Given the description of an element on the screen output the (x, y) to click on. 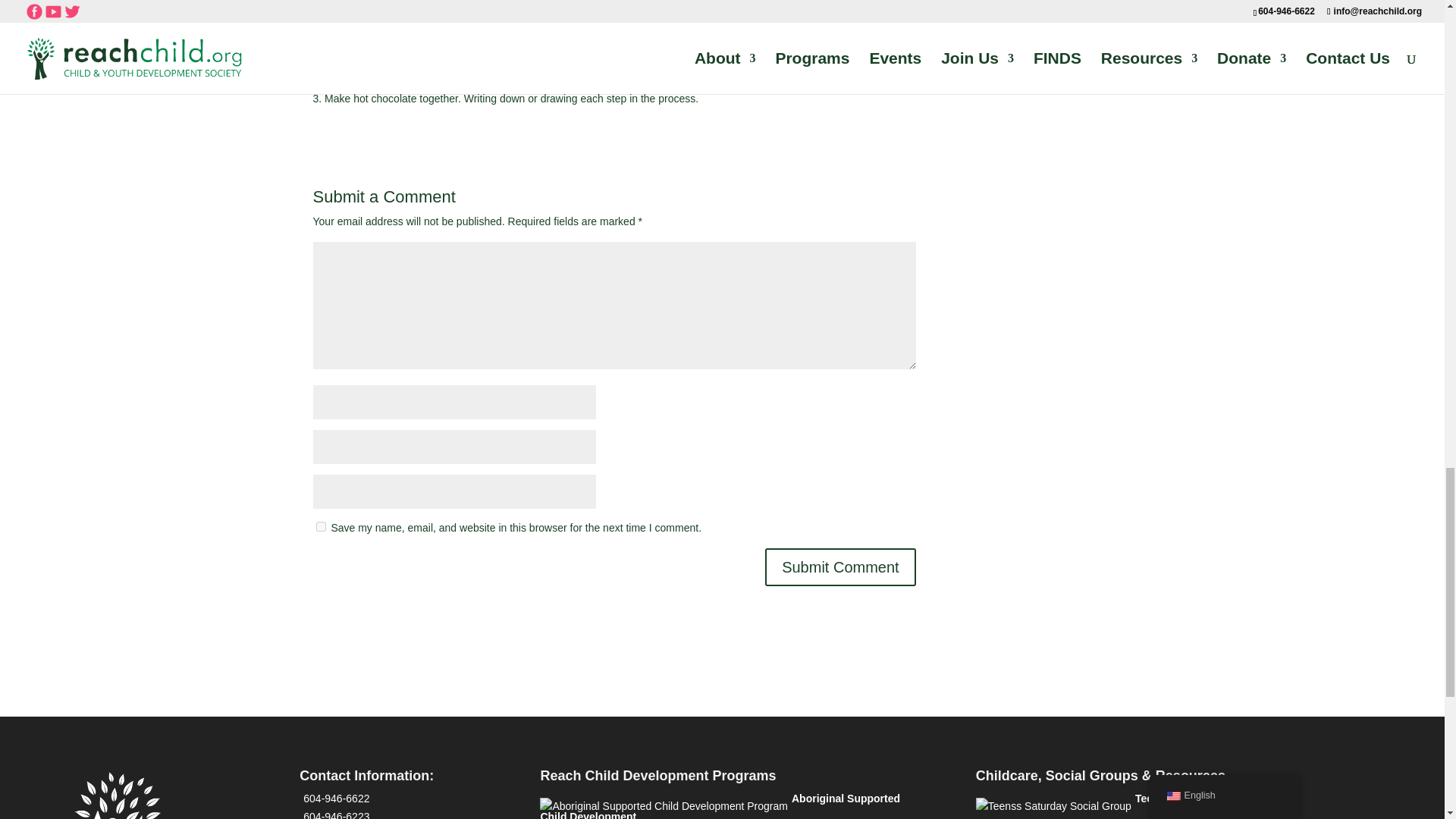
Submit Comment (840, 566)
yes (319, 526)
